Given the description of an element on the screen output the (x, y) to click on. 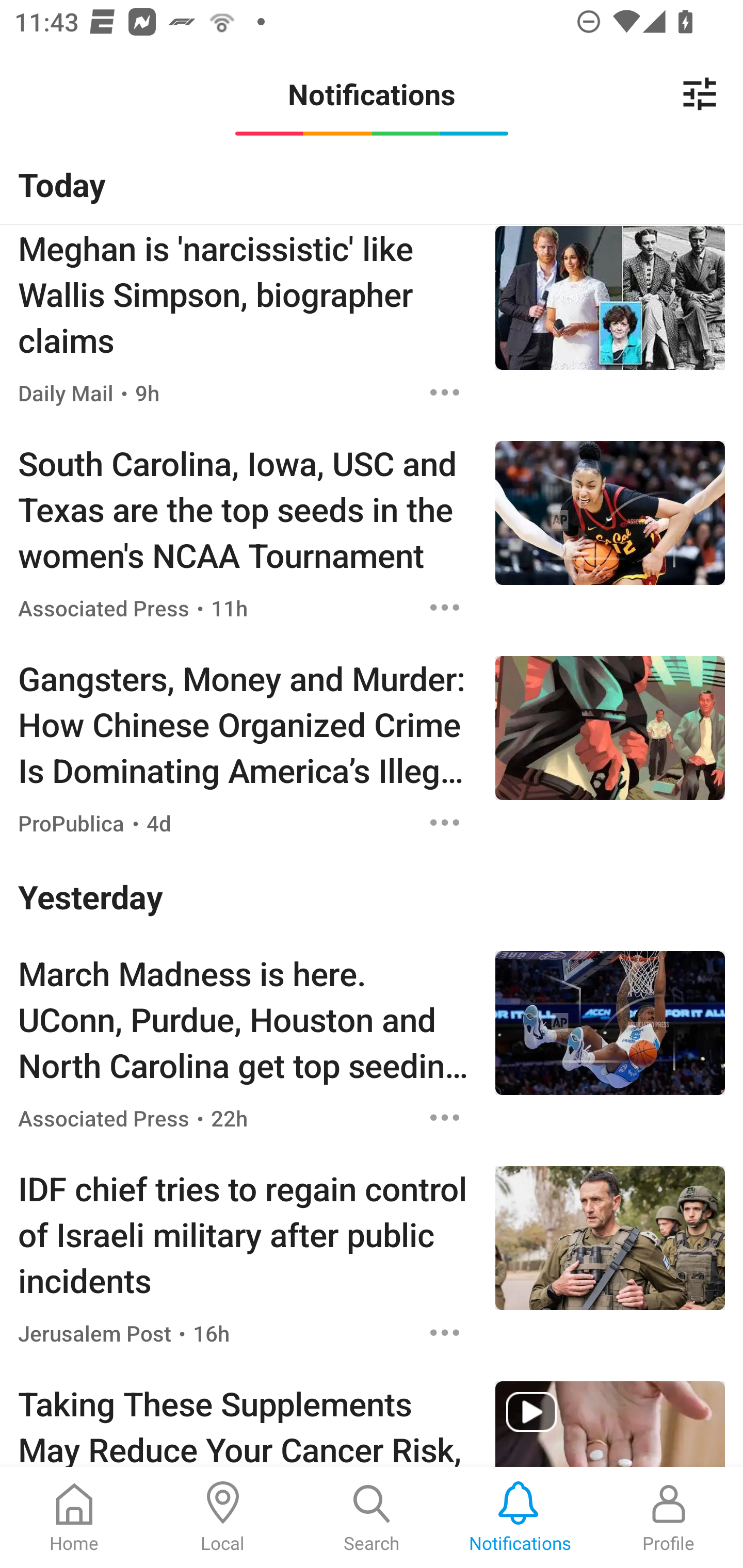
Notification Settings (699, 93)
Options (444, 392)
Options (444, 607)
Options (444, 822)
Yesterday (371, 896)
Options (444, 1117)
Options (444, 1332)
Home (74, 1517)
Local (222, 1517)
Search (371, 1517)
Profile (668, 1517)
